Given the description of an element on the screen output the (x, y) to click on. 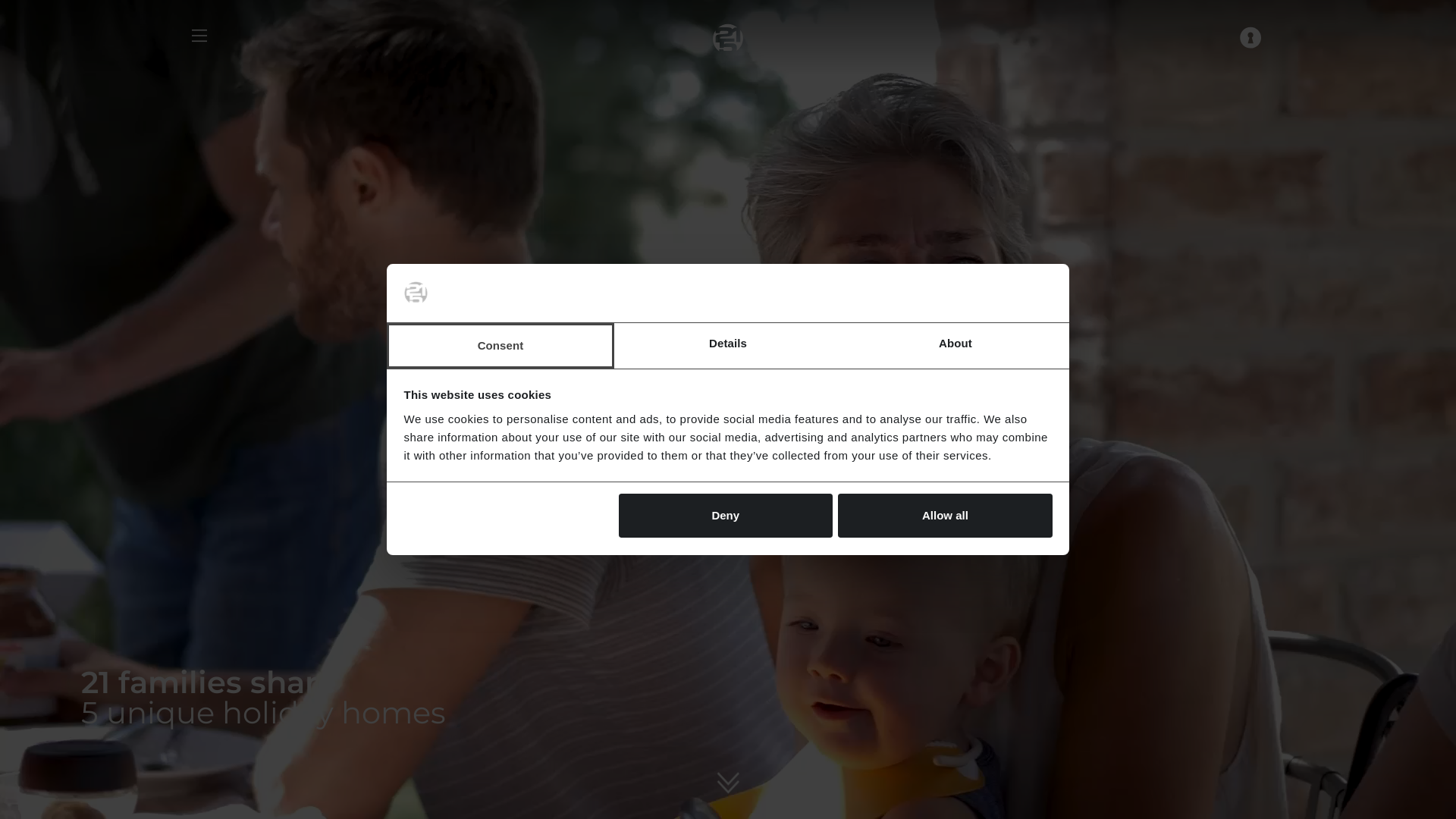
Allow all Element type: text (944, 515)
Details Element type: text (727, 345)
Deny Element type: text (725, 515)
About Element type: text (955, 345)
Consent Element type: text (500, 345)
